Given the description of an element on the screen output the (x, y) to click on. 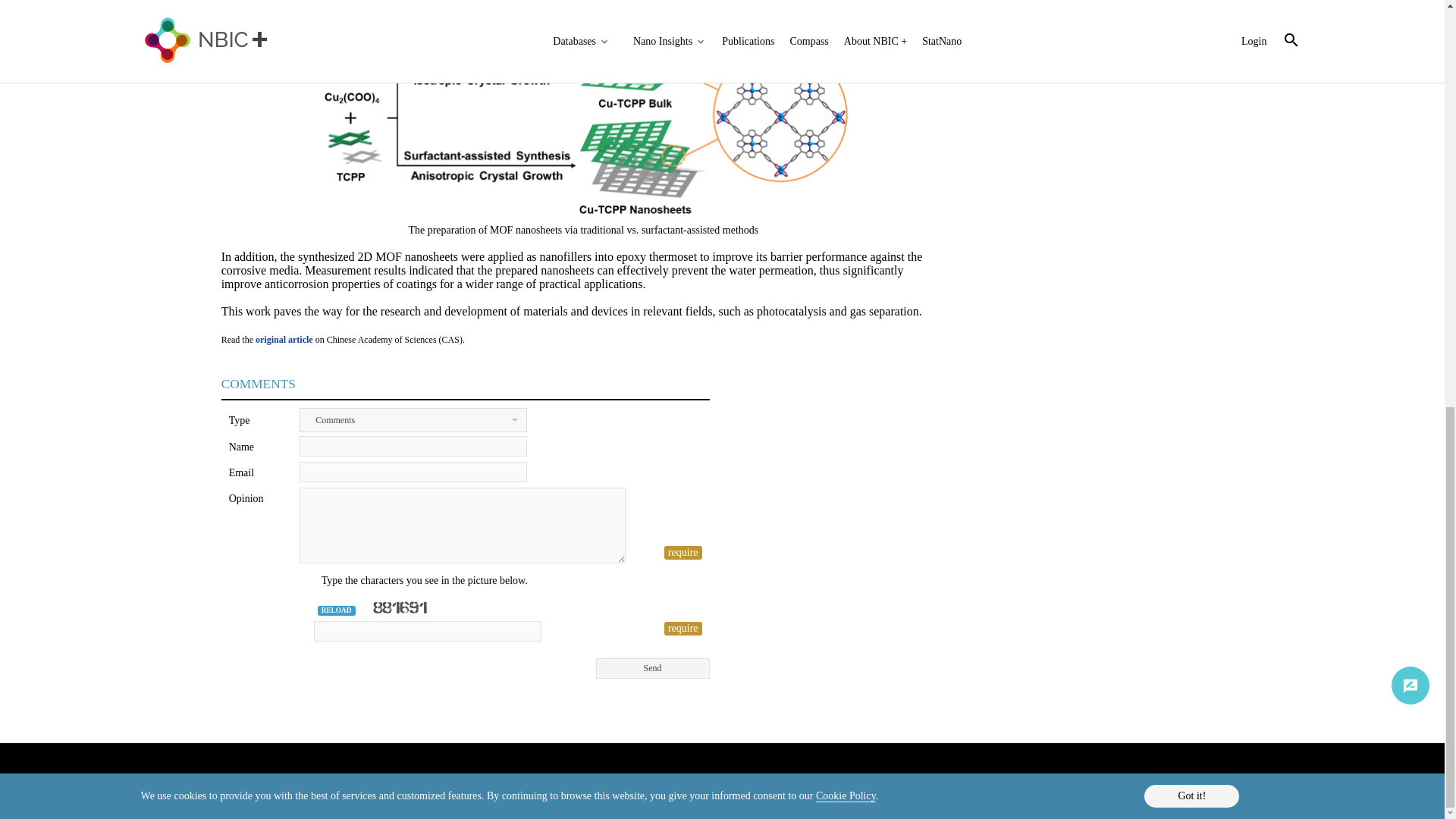
Instagram (1292, 783)
LinkedIn (1217, 783)
Twitter (1243, 783)
Facebook (1268, 783)
Send (652, 668)
